Given the description of an element on the screen output the (x, y) to click on. 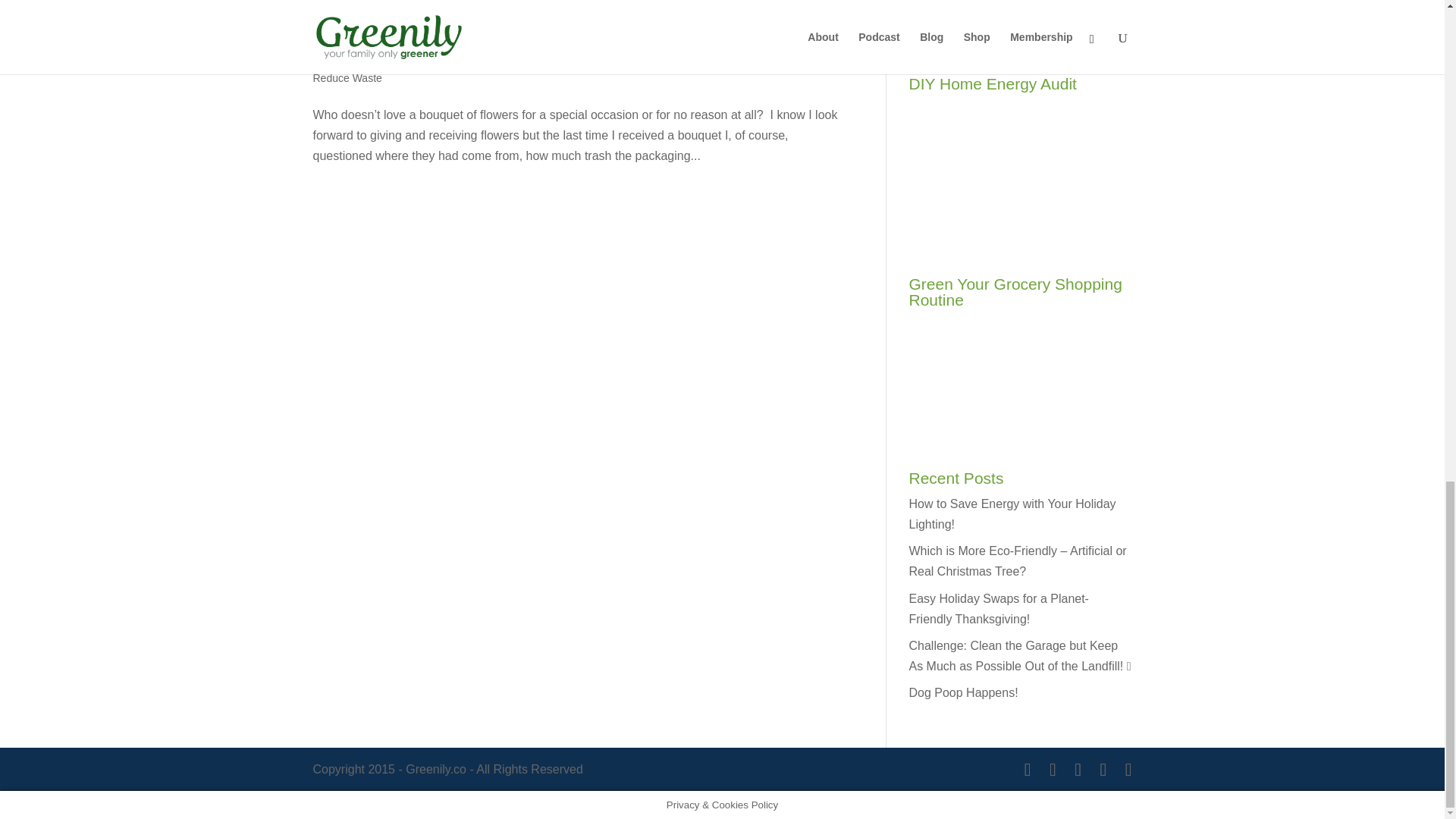
Lovely Local Flowers Are Greener! (500, 48)
Dog Poop Happens! (962, 692)
Reduce Waste (347, 78)
How to Save Energy with Your Holiday Lighting! (1011, 513)
Easy Holiday Swaps for a Planet-Friendly Thanksgiving! (997, 608)
